Given the description of an element on the screen output the (x, y) to click on. 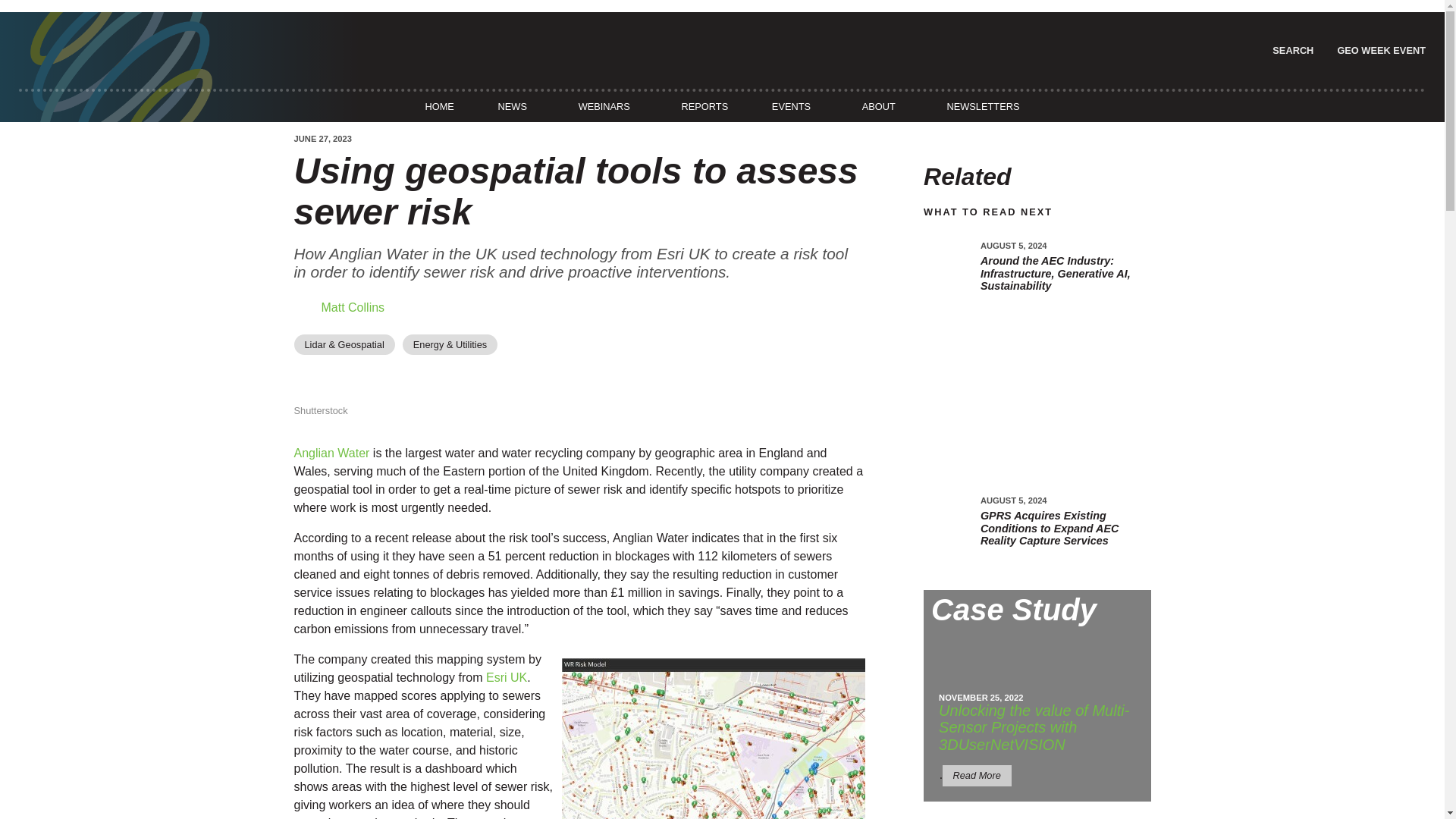
HOME (439, 106)
SEARCH (1290, 50)
GEO WEEK EVENT (1378, 50)
WEBINARS (604, 106)
NEWS (512, 106)
Geo Week (1378, 50)
